Given the description of an element on the screen output the (x, y) to click on. 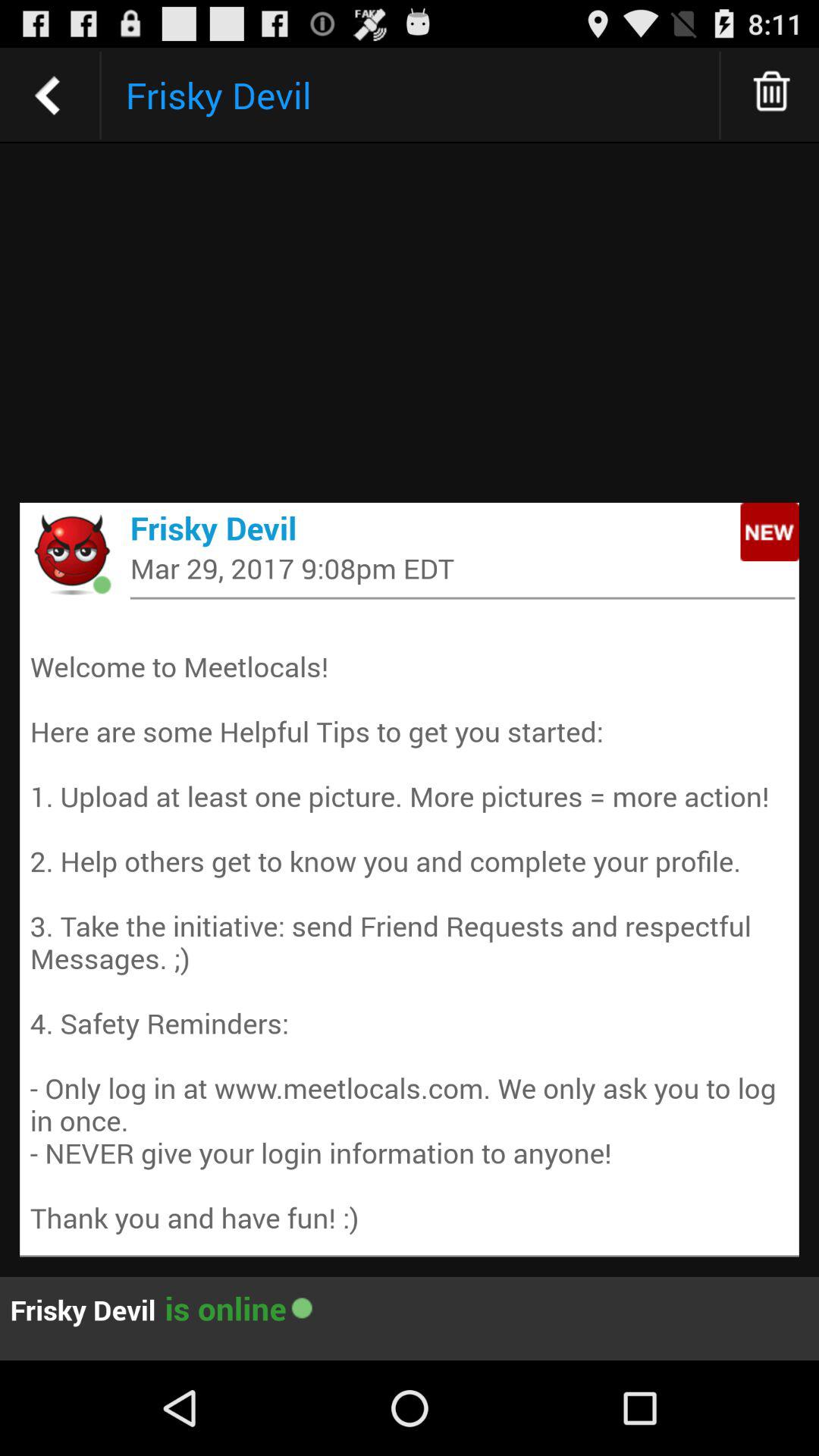
tap the app below mar 29 2017 item (462, 598)
